Given the description of an element on the screen output the (x, y) to click on. 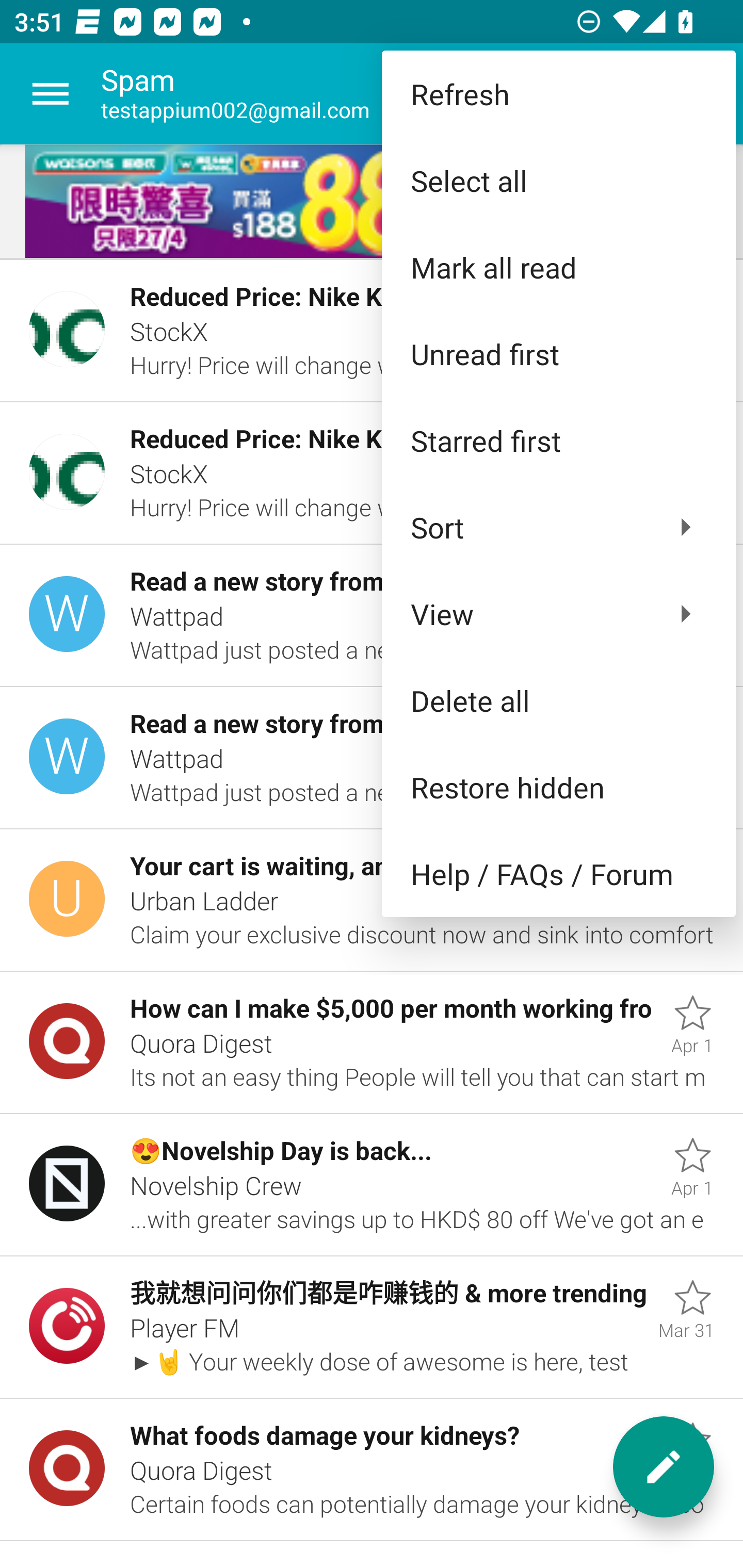
Refresh (558, 93)
Select all (558, 180)
Mark all read (558, 267)
Unread first (558, 353)
Starred first (558, 440)
Sort (558, 527)
View (558, 613)
Delete all (558, 699)
Restore hidden (558, 787)
Help / FAQs / Forum (558, 874)
